Given the description of an element on the screen output the (x, y) to click on. 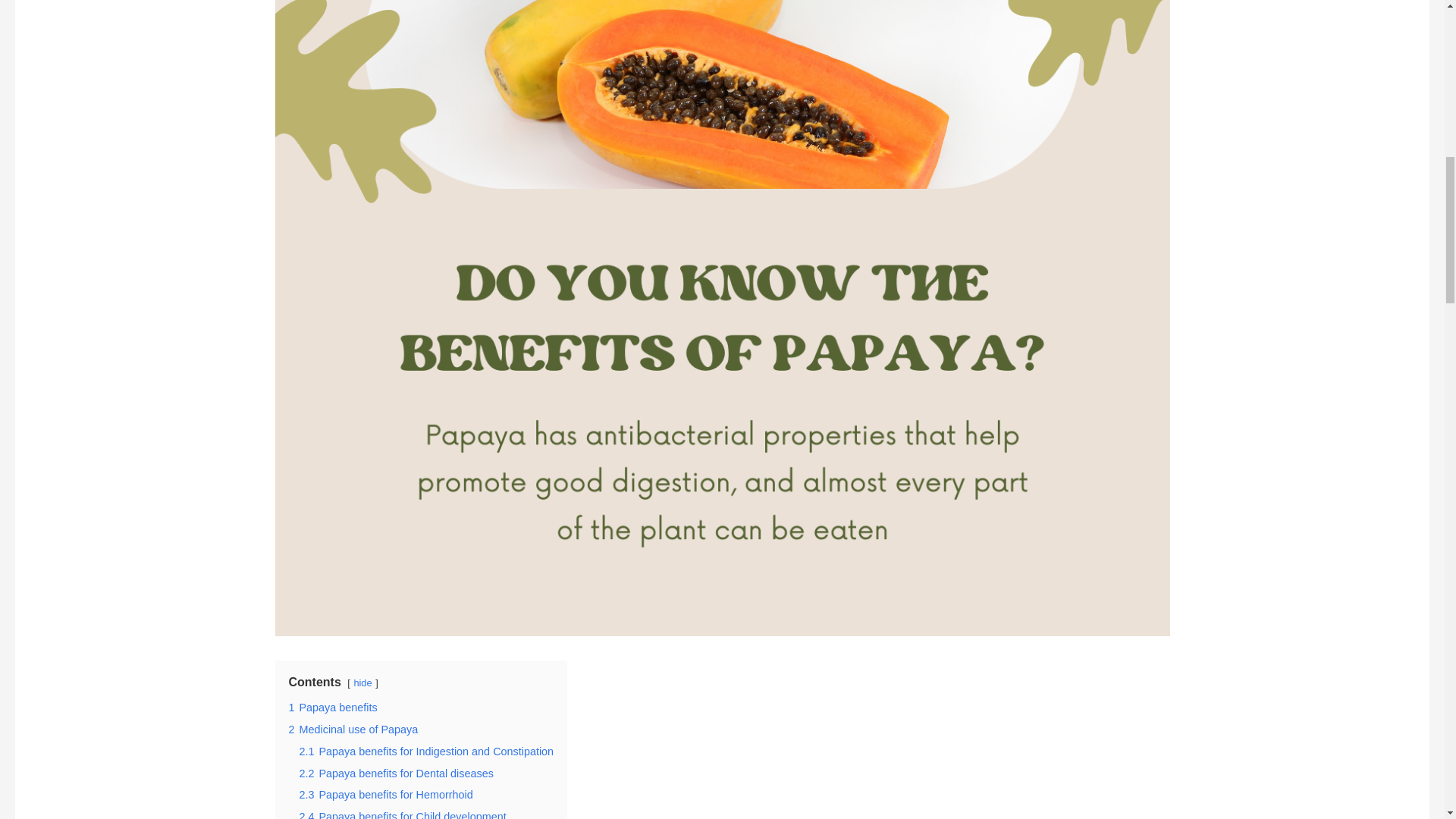
2 Medicinal use of Papaya (352, 729)
1 Papaya benefits (332, 707)
2.1 Papaya benefits for Indigestion and Constipation (425, 751)
hide (362, 682)
2.3 Papaya benefits for Hemorrhoid (384, 794)
2.4 Papaya benefits for Child development (401, 814)
2.2 Papaya benefits for Dental diseases (395, 773)
